Given the description of an element on the screen output the (x, y) to click on. 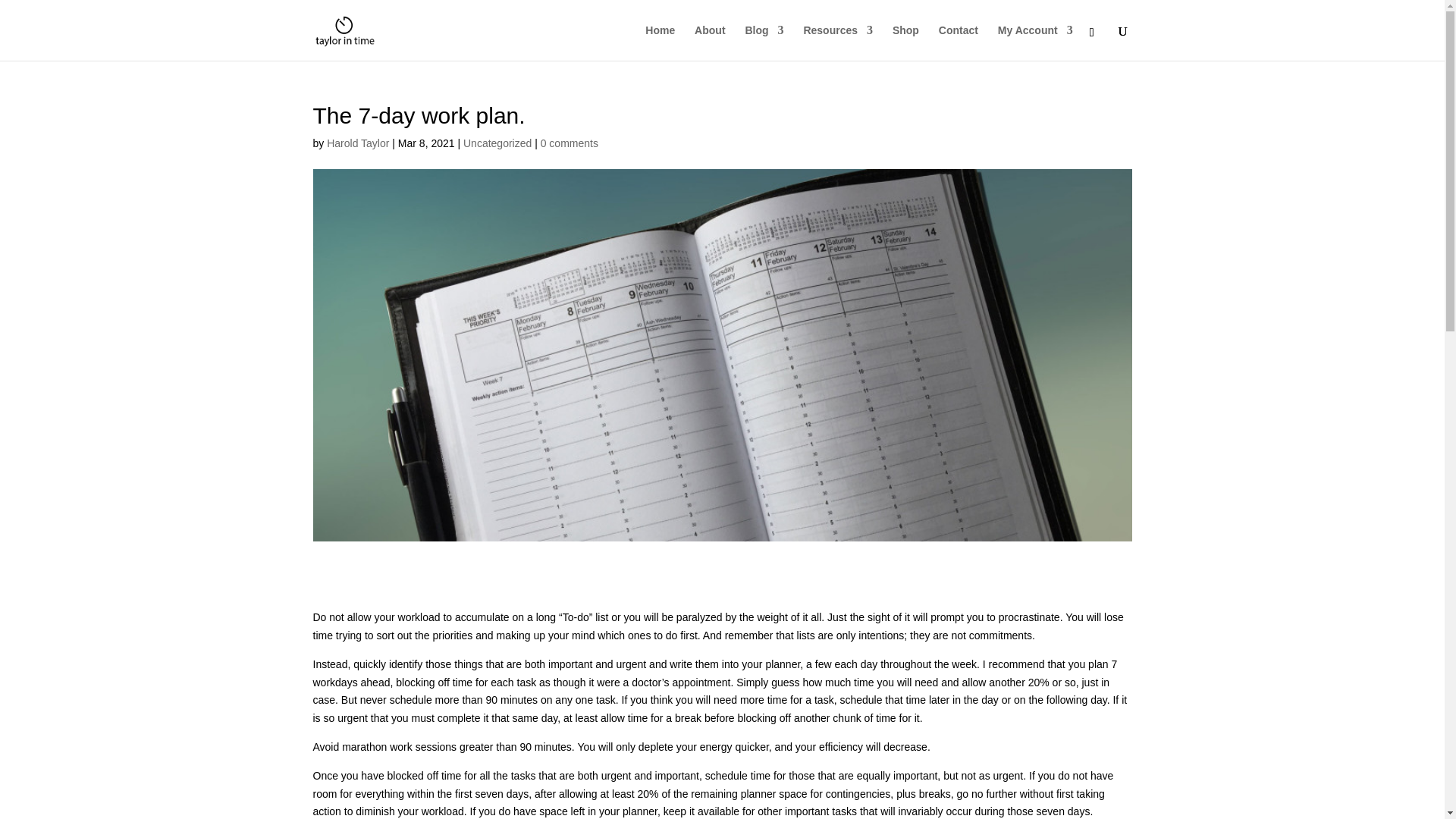
Shop (905, 42)
Blog (763, 42)
Posts by Harold Taylor (357, 143)
Resources (837, 42)
Home (660, 42)
My Account (1035, 42)
Contact (958, 42)
About (709, 42)
Home (660, 42)
